Given the description of an element on the screen output the (x, y) to click on. 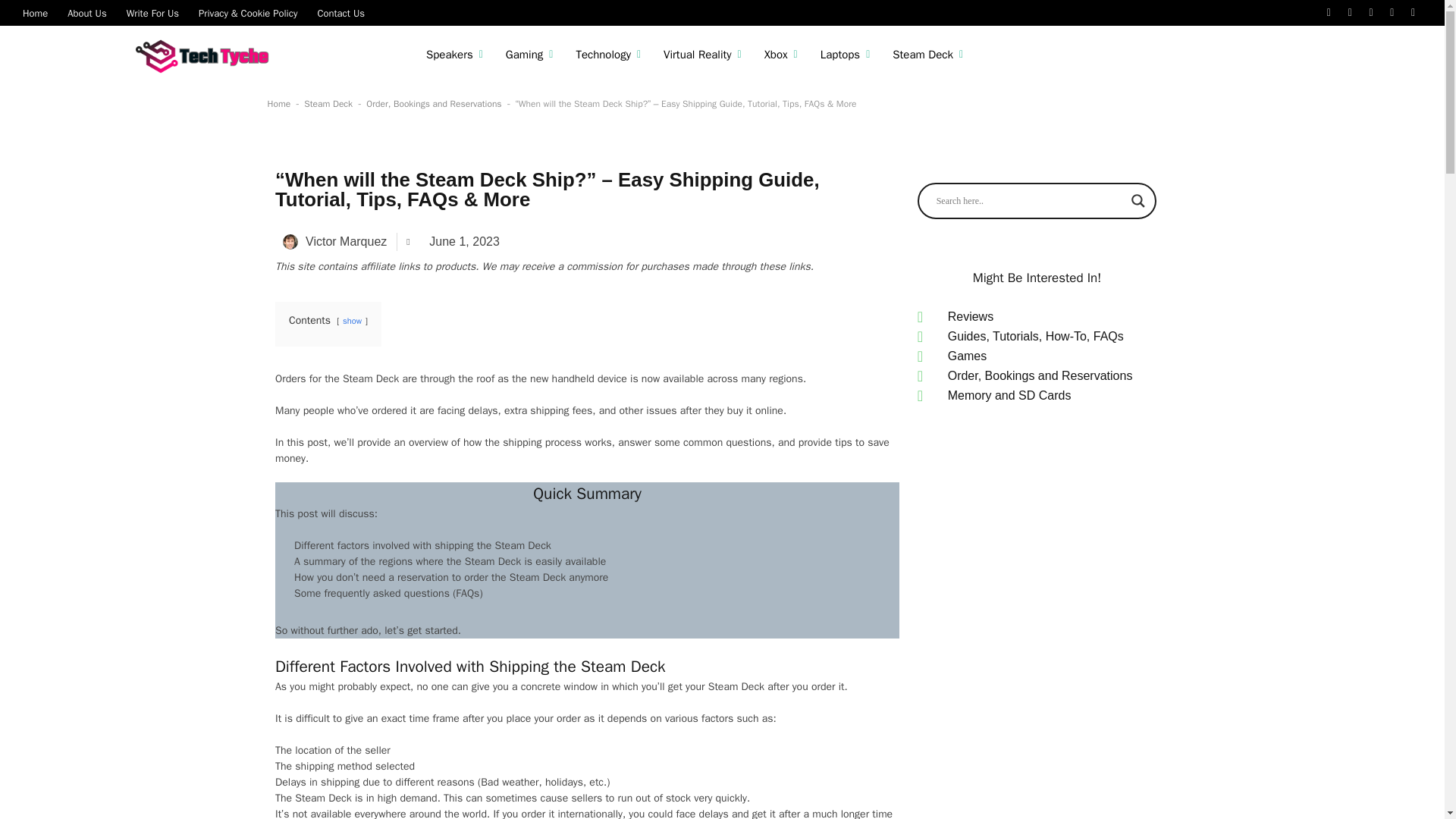
Speakers (454, 54)
Home (35, 12)
Contact Us (340, 12)
Gaming (529, 54)
Write For Us (152, 12)
Techtyche (205, 54)
About Us (87, 12)
